Given the description of an element on the screen output the (x, y) to click on. 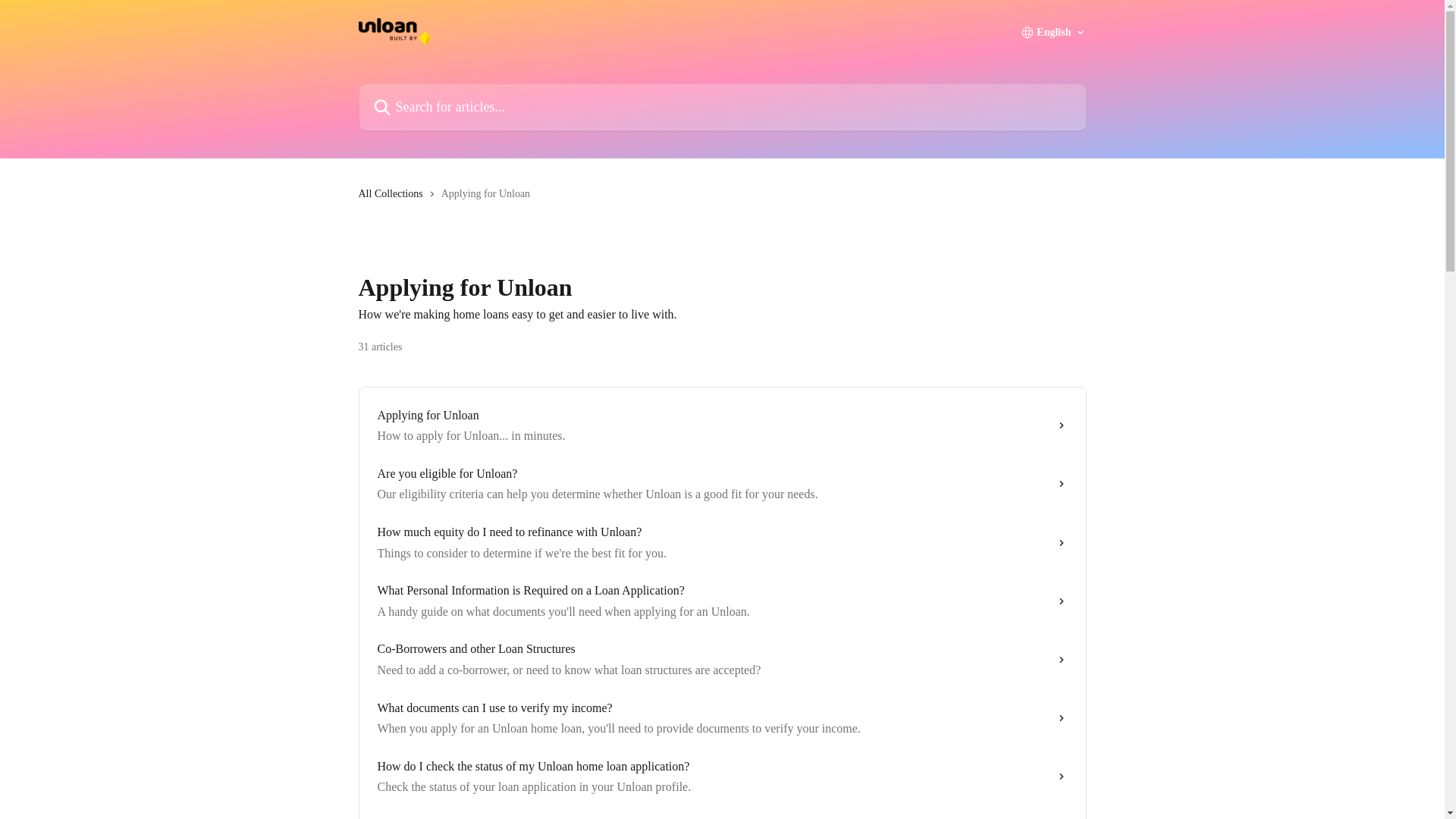
All Collections (393, 193)
